Given the description of an element on the screen output the (x, y) to click on. 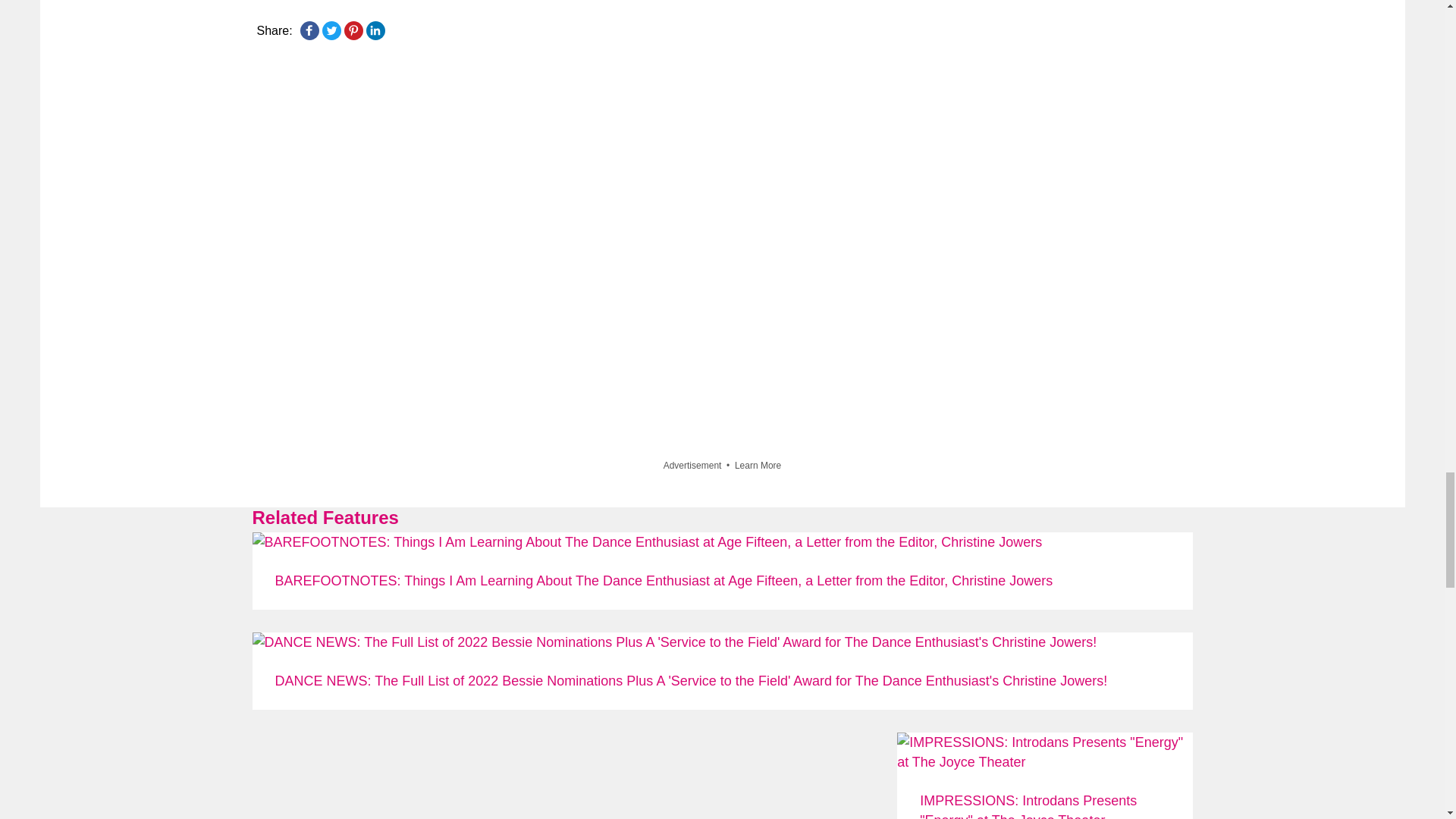
LinkedIn (375, 29)
Facebook (309, 29)
Twitter (331, 29)
Pinterest (353, 29)
